Given the description of an element on the screen output the (x, y) to click on. 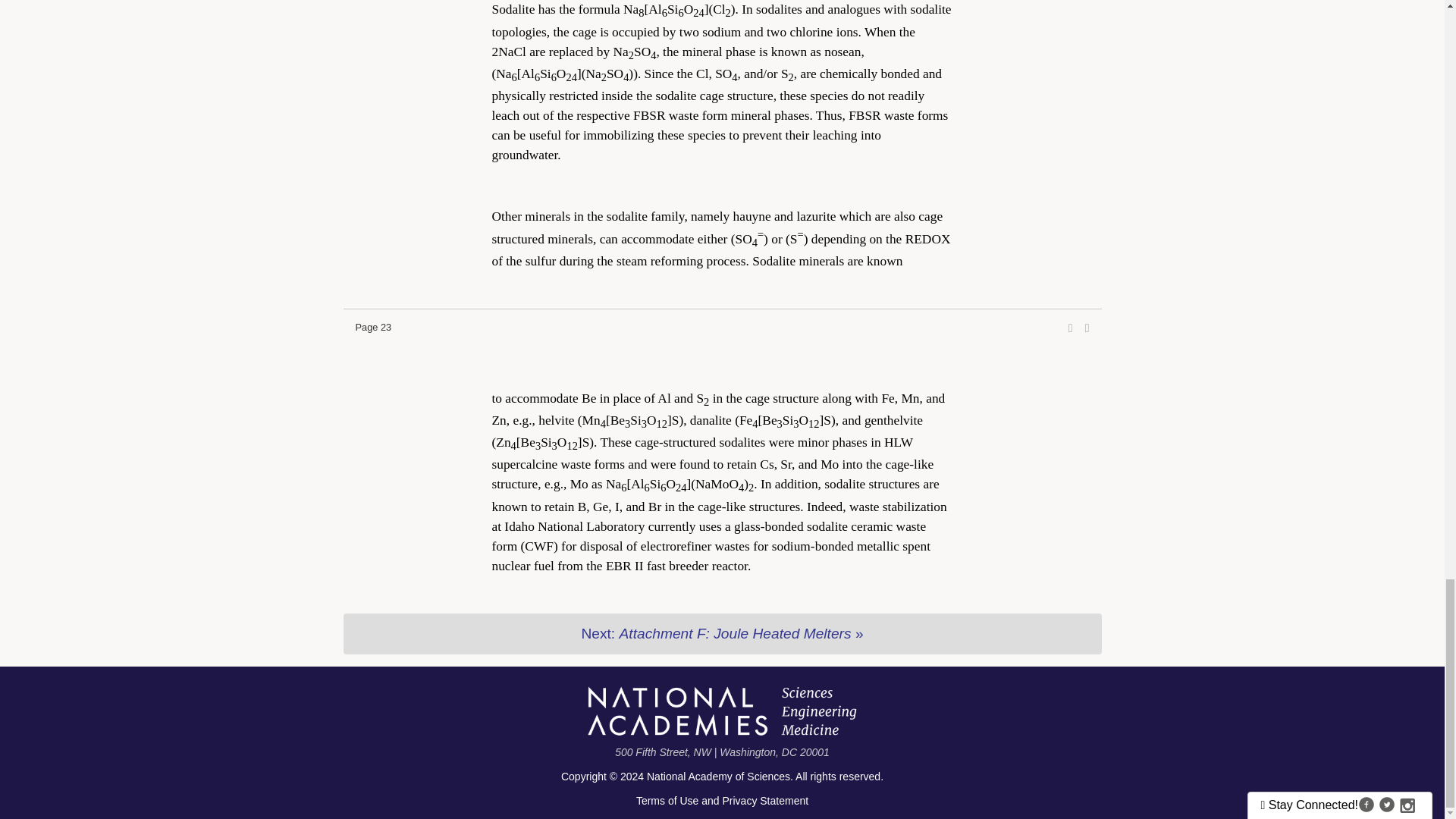
Next Chapter (721, 633)
